Given the description of an element on the screen output the (x, y) to click on. 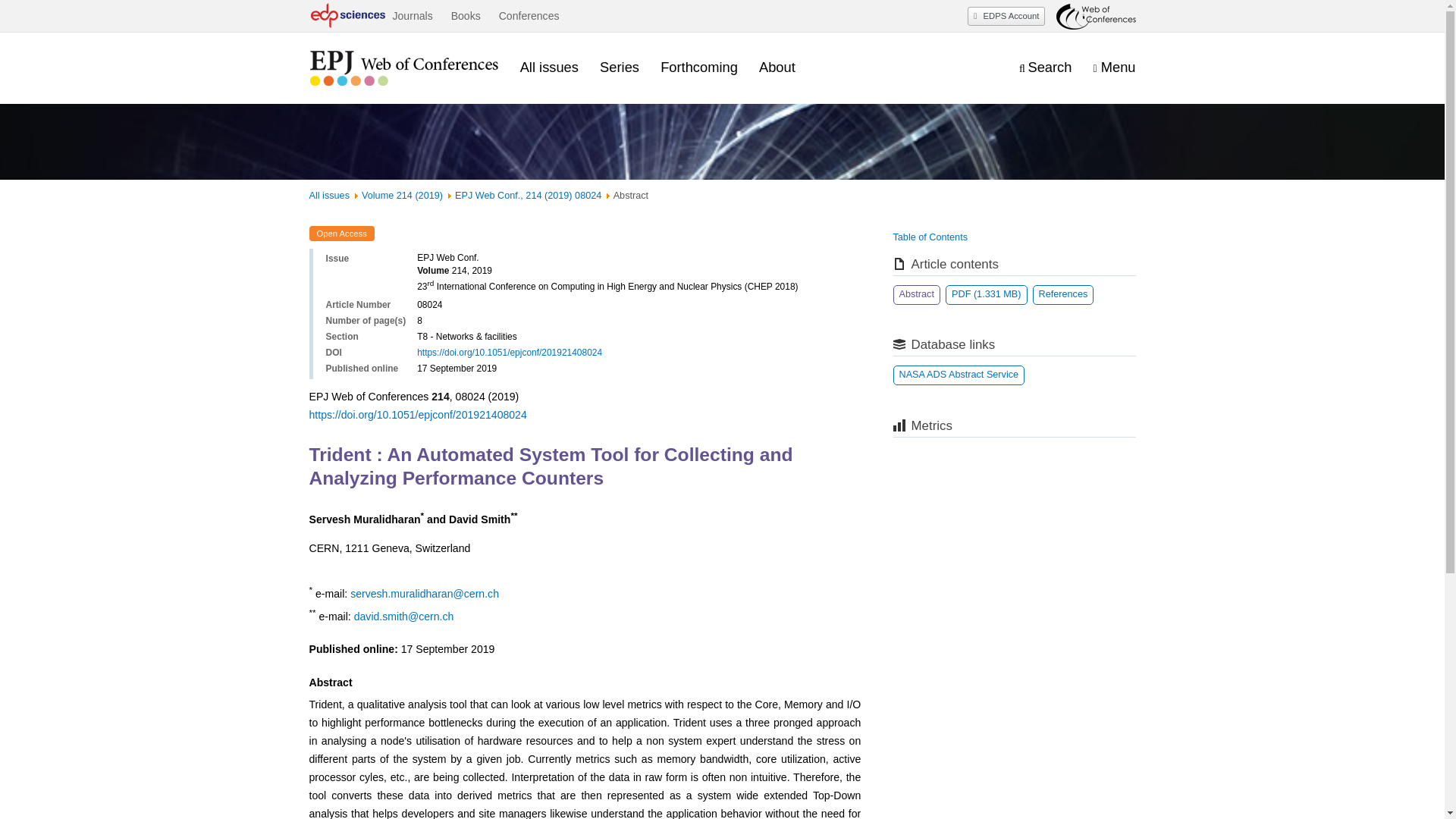
Journal homepage (403, 67)
All issues (328, 195)
Display the search engine (1045, 67)
Conferences (529, 16)
Forthcoming (699, 67)
Series (619, 67)
Books (465, 16)
Menu (1114, 67)
Abstract (916, 294)
